Given the description of an element on the screen output the (x, y) to click on. 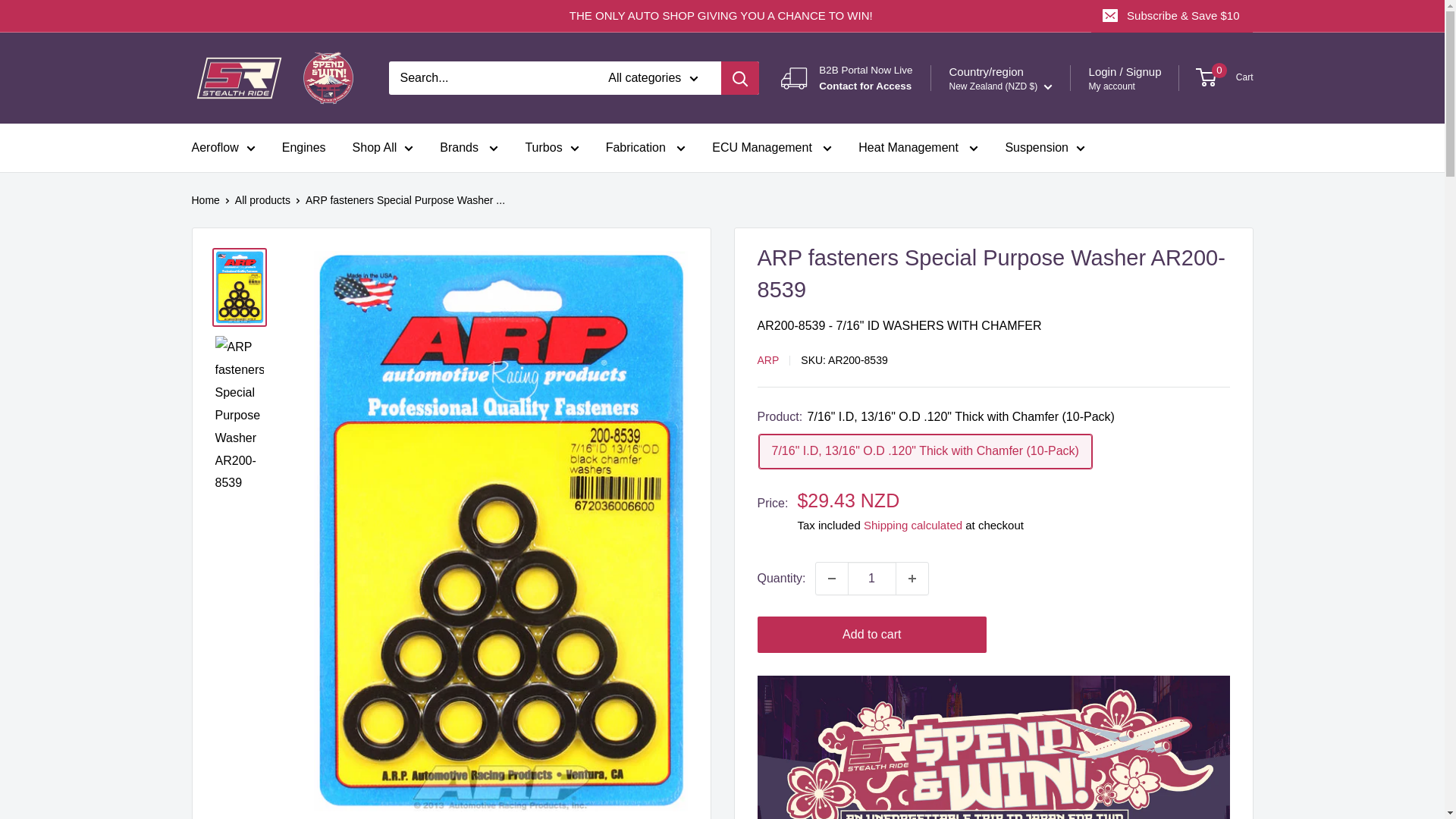
Increase quantity by 1 (912, 578)
Decrease quantity by 1 (831, 578)
1 (871, 578)
